Given the description of an element on the screen output the (x, y) to click on. 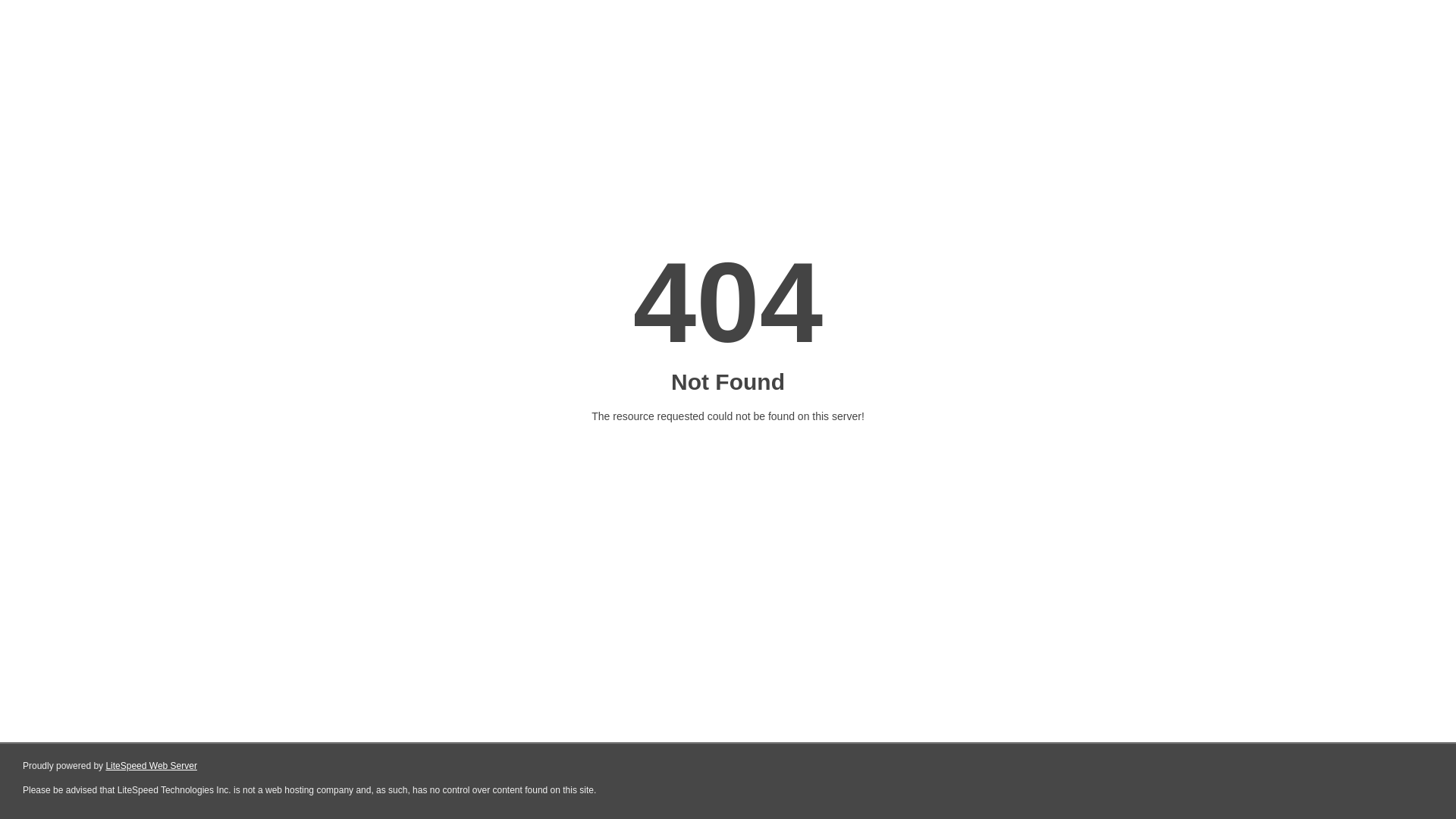
LiteSpeed Web Server Element type: text (151, 765)
